Given the description of an element on the screen output the (x, y) to click on. 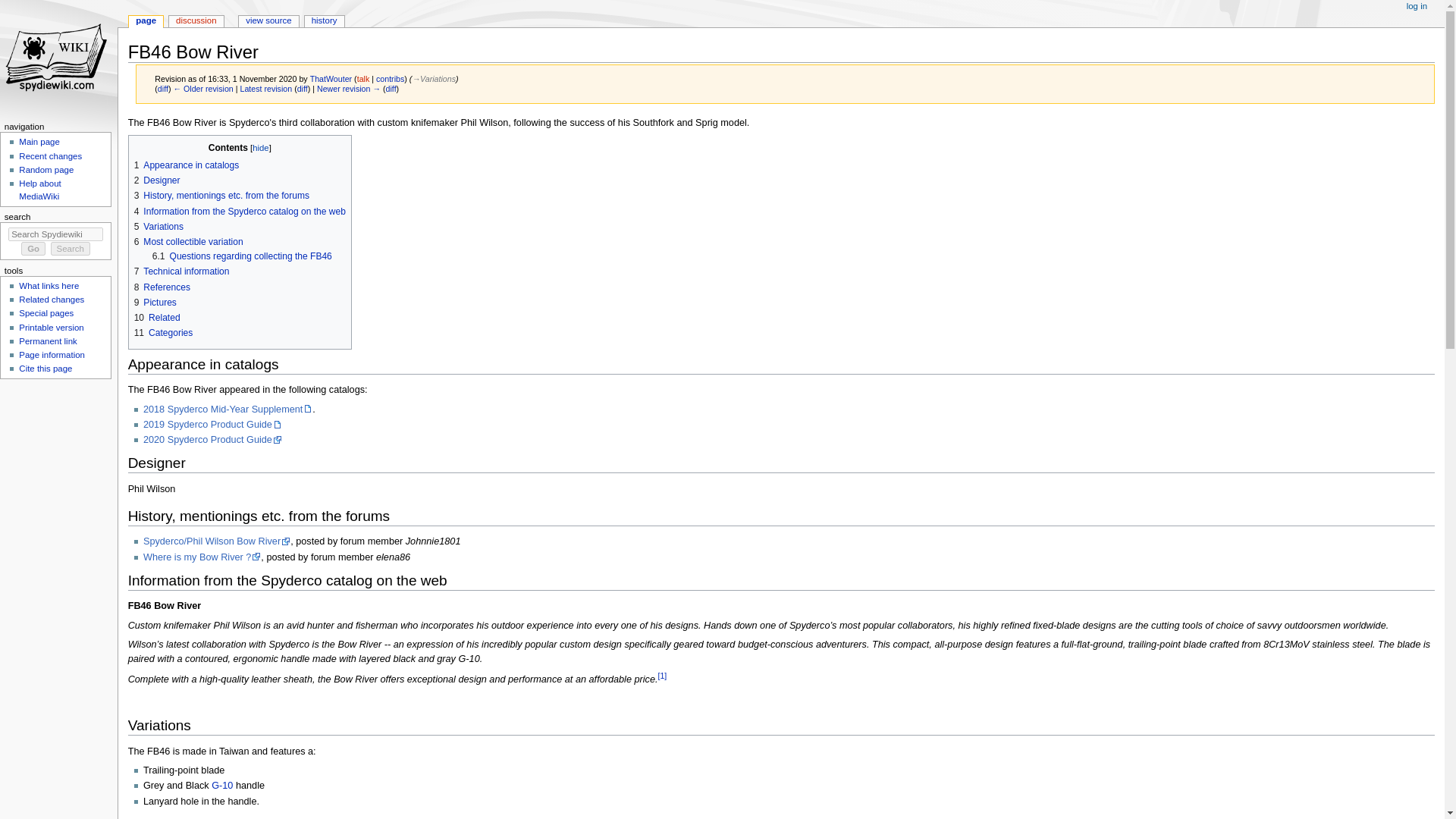
2019 Spyderco Product Guide (212, 424)
Go (33, 248)
2020 Spyderco Product Guide (212, 439)
10 Related (156, 317)
9 Pictures (154, 302)
Where is my Bow River ? (201, 557)
Go (33, 248)
G-10 (221, 785)
talk (362, 78)
diff (302, 88)
